Given the description of an element on the screen output the (x, y) to click on. 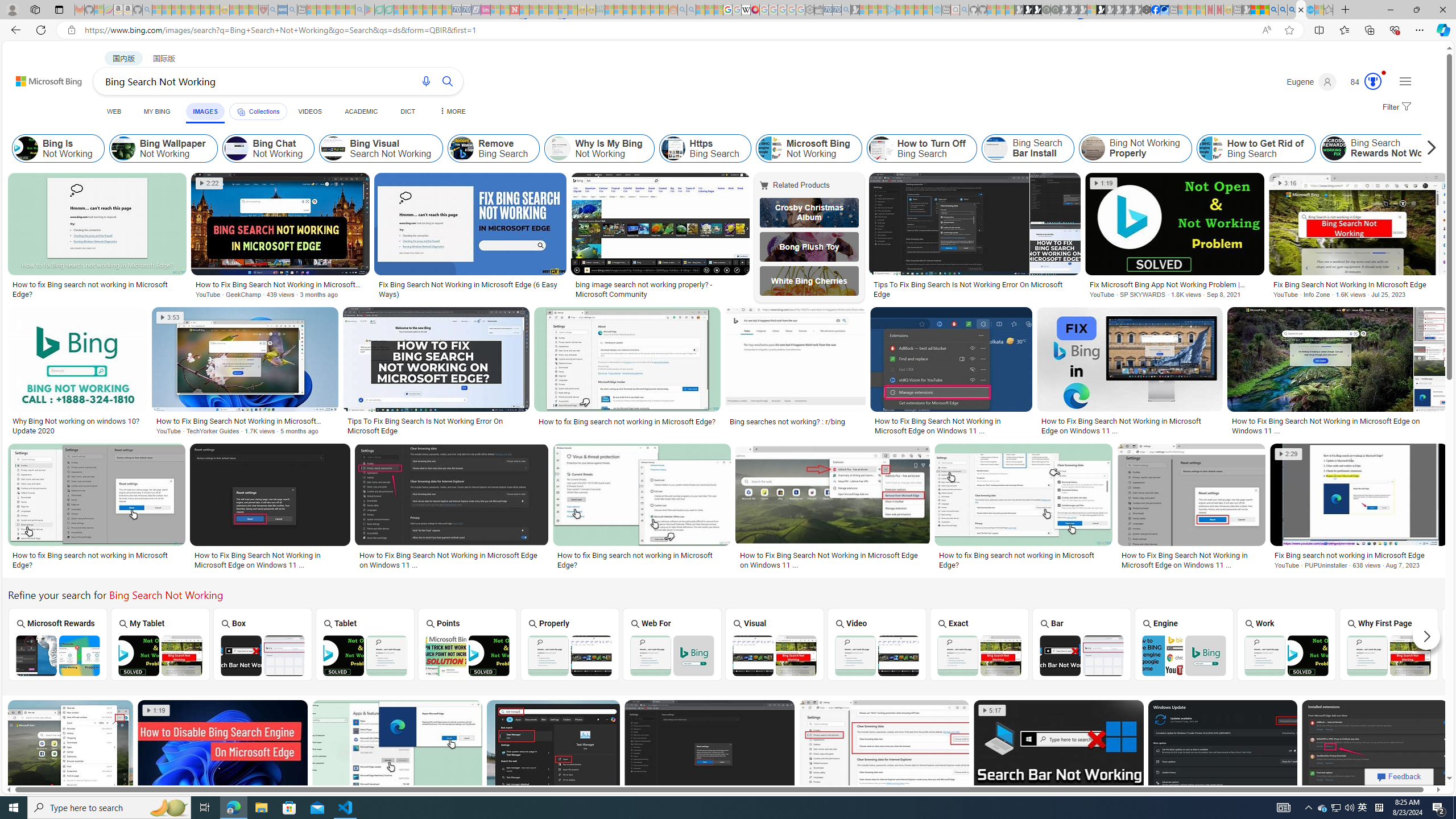
ACADEMIC (360, 111)
My Tablet (160, 643)
Bing Search Box Not Working (262, 655)
